Given the description of an element on the screen output the (x, y) to click on. 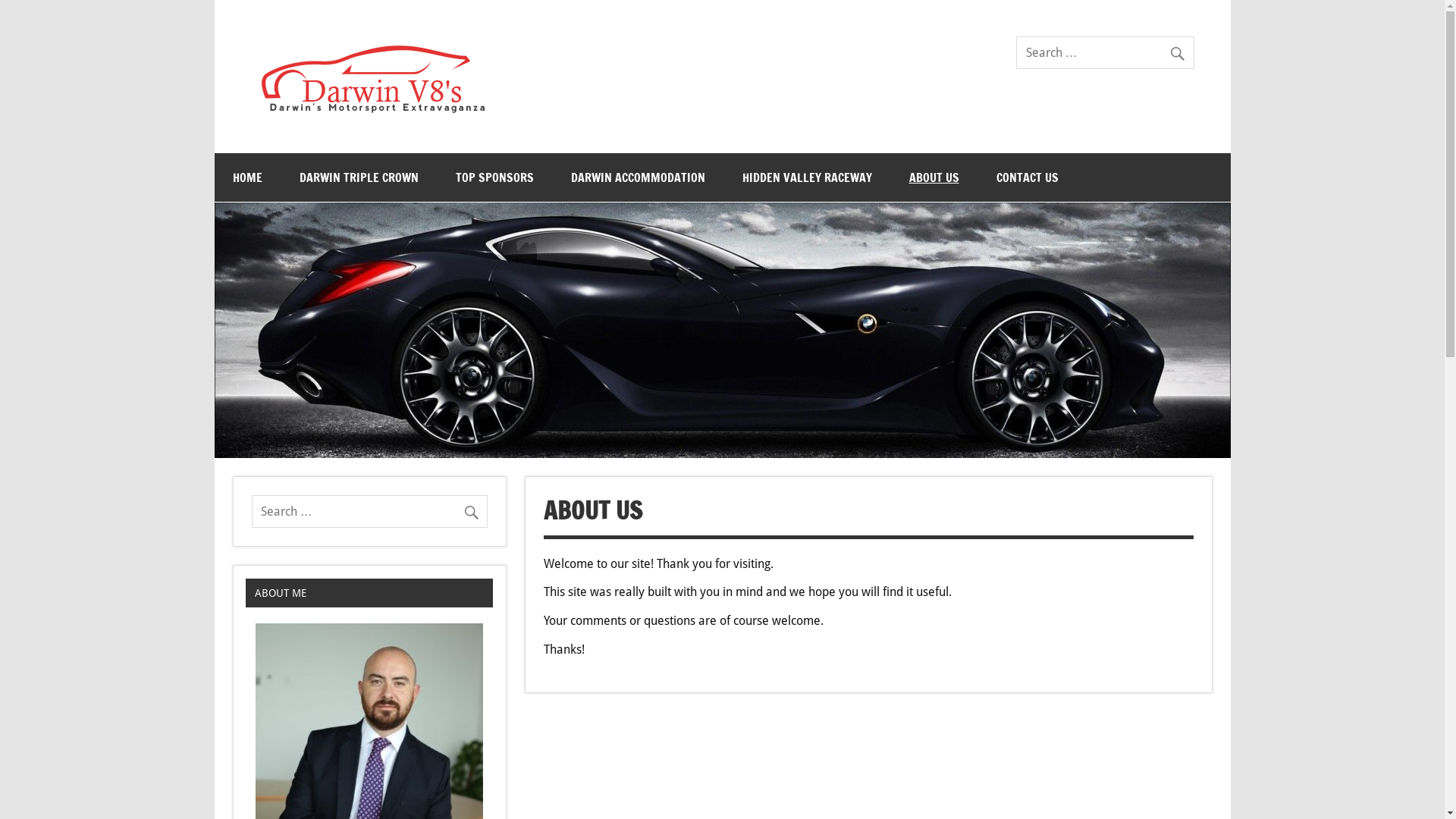
HIDDEN VALLEY RACEWAY Element type: text (806, 177)
ABOUT US Element type: text (933, 177)
HOME Element type: text (246, 177)
CONTACT US Element type: text (1027, 177)
TOP SPONSORS Element type: text (493, 177)
DARWIN TRIPLE CROWN Element type: text (358, 177)
DARWIN ACCOMMODATION Element type: text (637, 177)
